Given the description of an element on the screen output the (x, y) to click on. 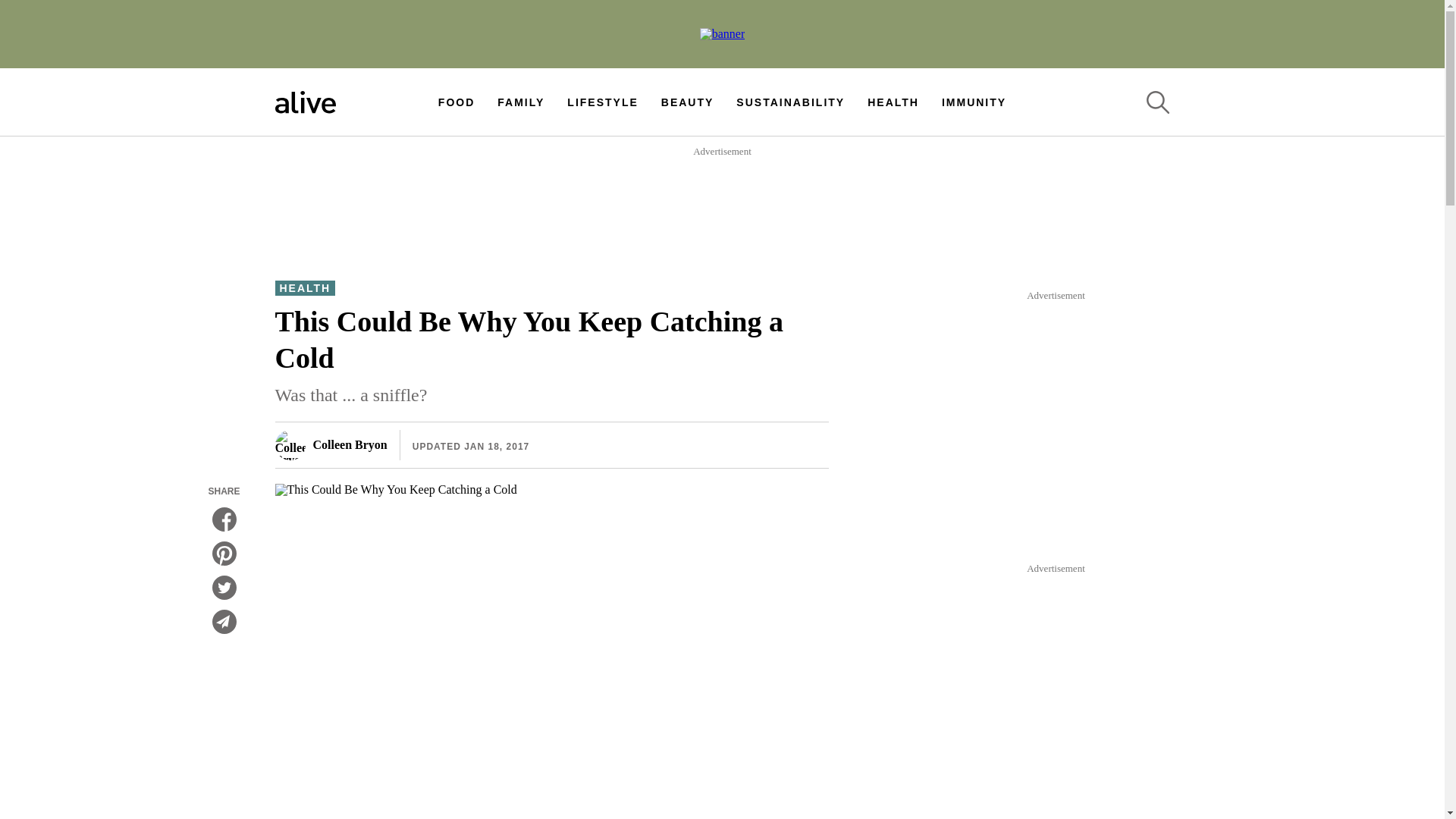
BEAUTY (687, 101)
HEALTH (304, 287)
SUSTAINABILITY (790, 101)
HEALTH (892, 101)
FAMILY (520, 101)
LIFESTYLE (602, 101)
IMMUNITY (974, 101)
Colleen Bryon (331, 444)
FOOD (456, 101)
